Given the description of an element on the screen output the (x, y) to click on. 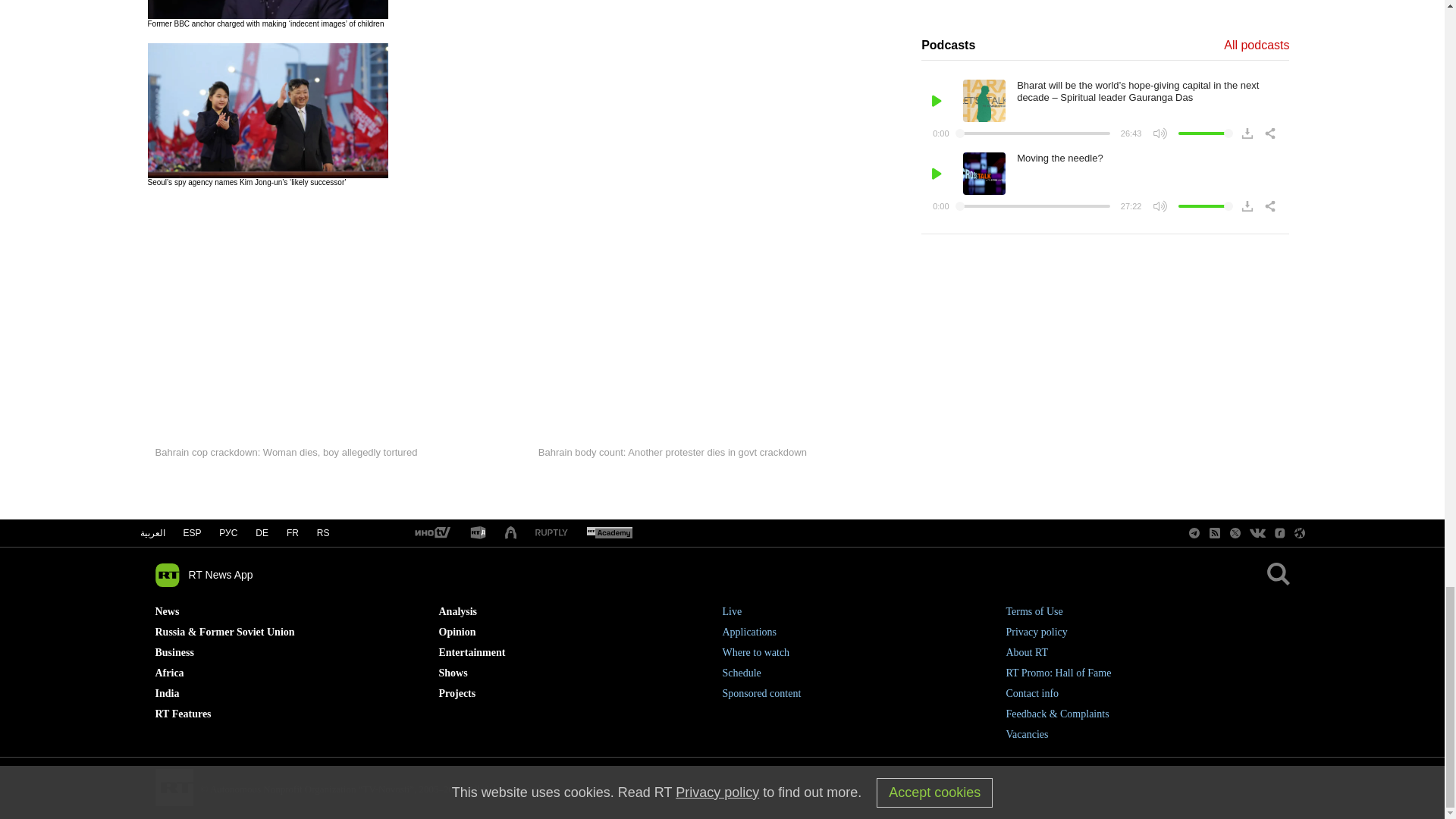
RT  (431, 533)
RT  (551, 533)
RT  (608, 533)
RT  (478, 533)
